Given the description of an element on the screen output the (x, y) to click on. 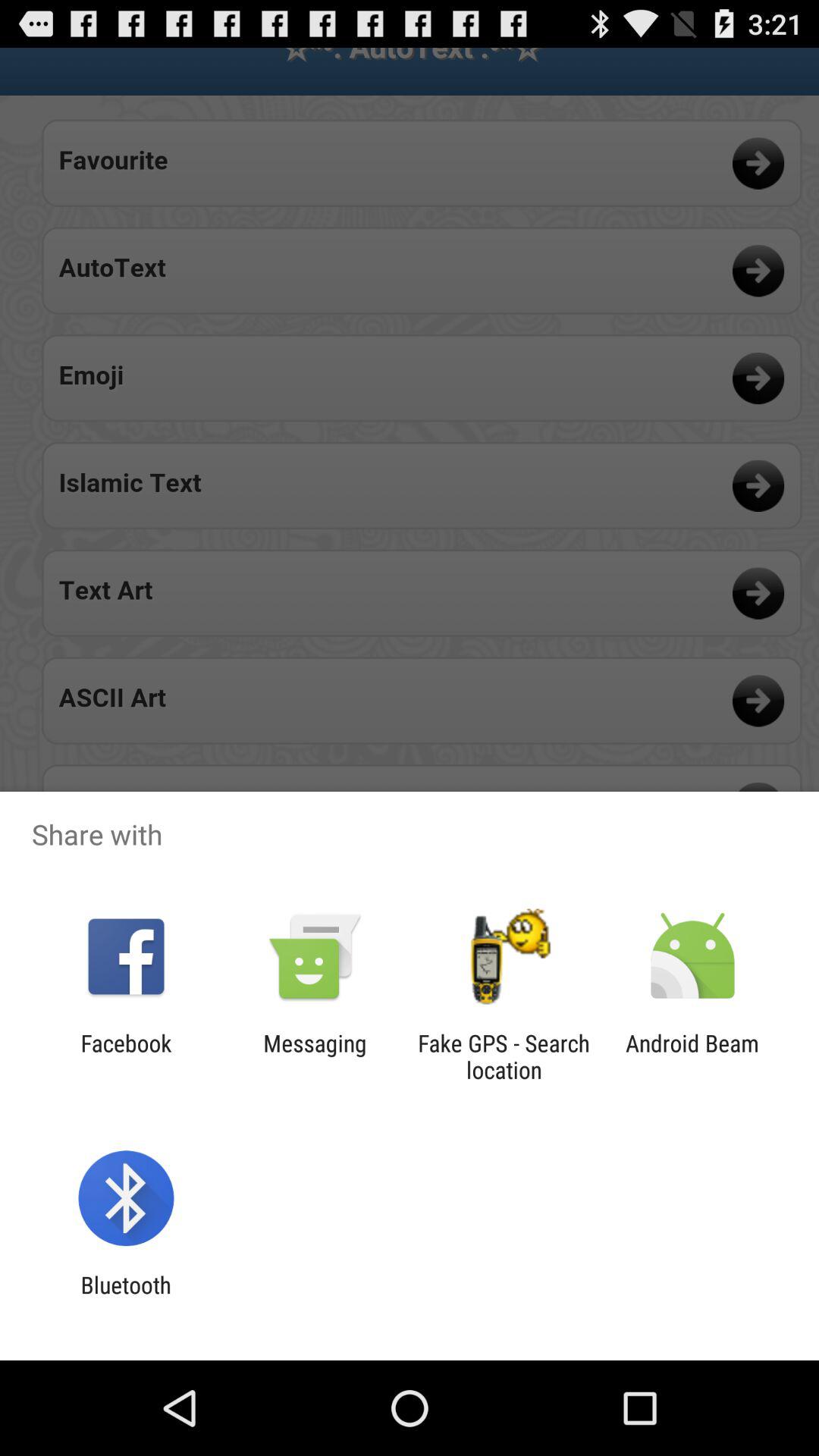
turn on the messaging icon (314, 1056)
